Given the description of an element on the screen output the (x, y) to click on. 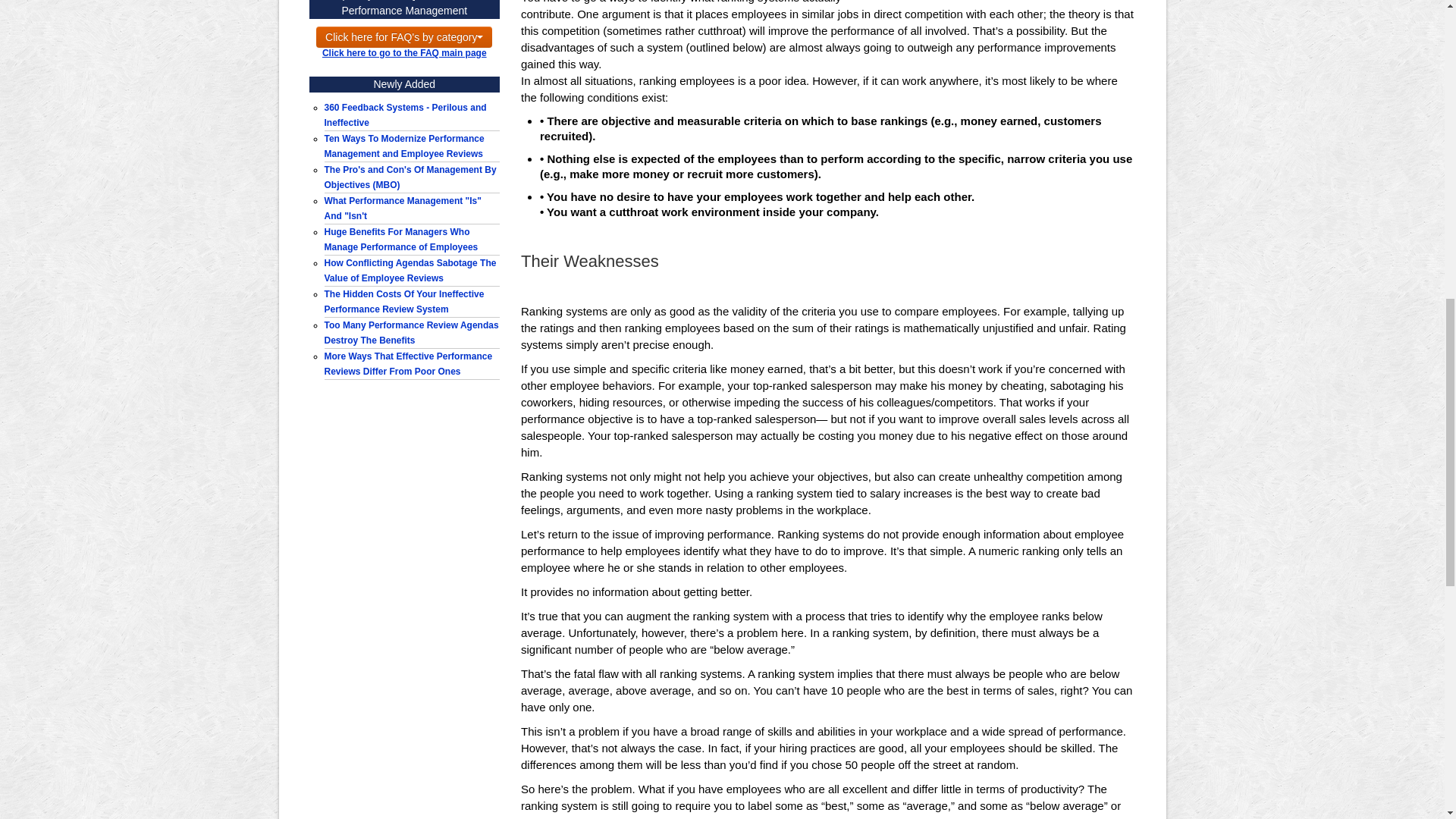
Click here to go to the FAQ main page (403, 52)
Click here for FAQ's by category (403, 36)
MBO works but needs to be modernized (410, 177)
Performance management is far more than just reviews (402, 208)
Here's what we need to do to  (404, 145)
360 Feedback Systems - Perilous and Ineffective (405, 114)
